Given the description of an element on the screen output the (x, y) to click on. 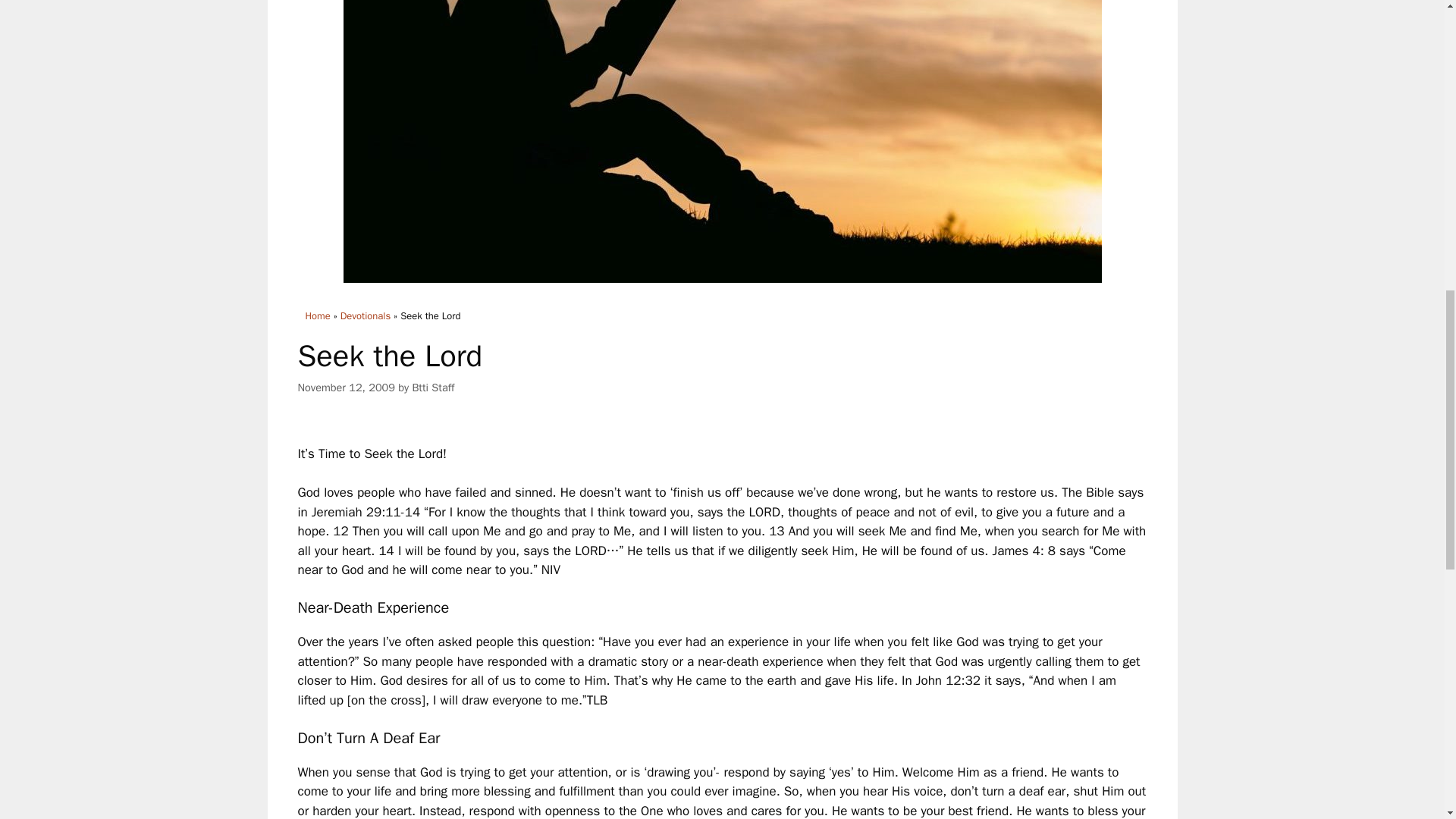
View all posts by Btti Staff (433, 386)
Btti Staff (433, 386)
Devotionals (365, 315)
Home (317, 315)
November 12, 2009 (345, 386)
6:33 am (345, 386)
